Given the description of an element on the screen output the (x, y) to click on. 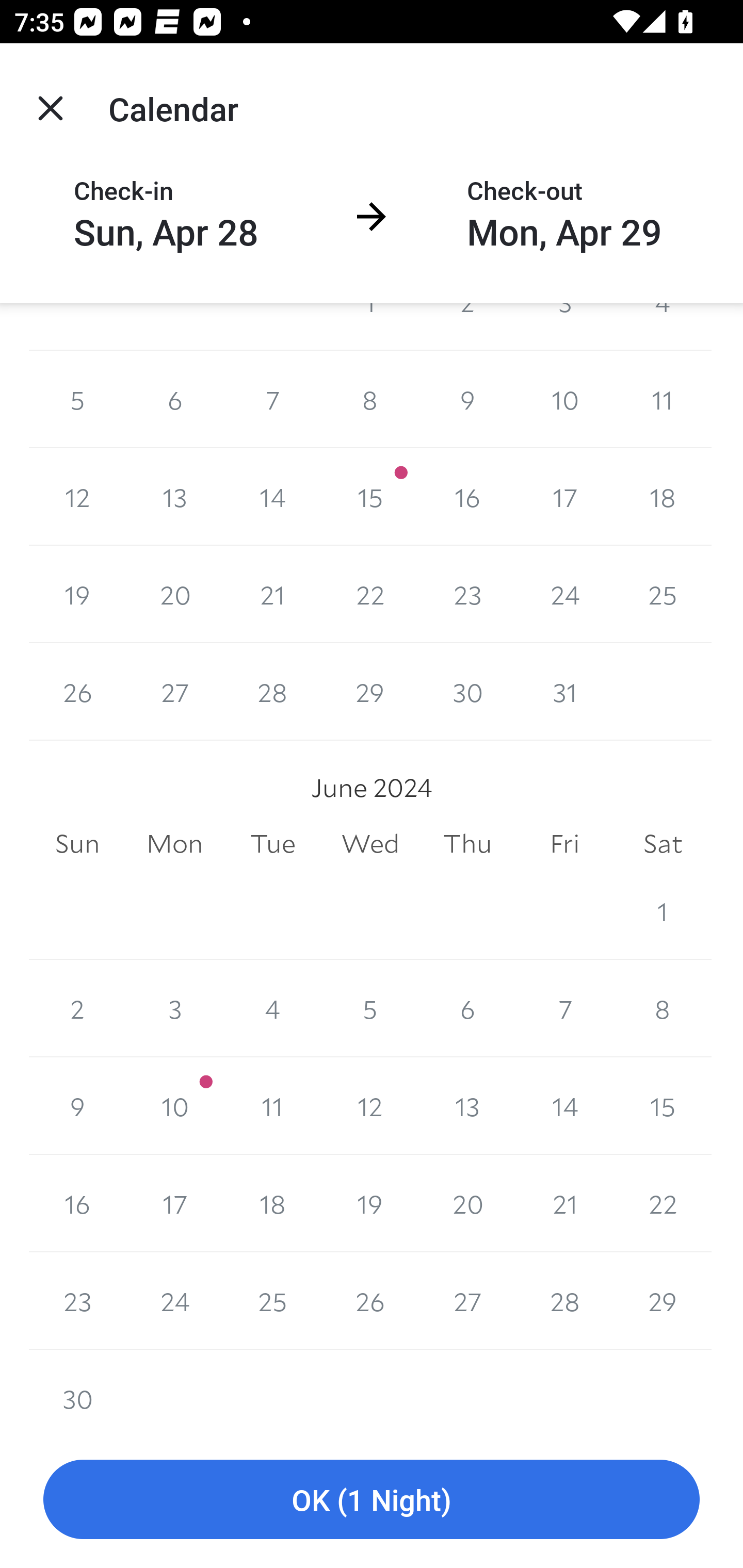
5 5 May 2024 (77, 399)
6 6 May 2024 (174, 399)
7 7 May 2024 (272, 399)
8 8 May 2024 (370, 399)
9 9 May 2024 (467, 399)
10 10 May 2024 (564, 399)
11 11 May 2024 (662, 399)
12 12 May 2024 (77, 496)
13 13 May 2024 (174, 496)
14 14 May 2024 (272, 496)
15 15 May 2024 (370, 496)
16 16 May 2024 (467, 496)
17 17 May 2024 (564, 496)
18 18 May 2024 (662, 496)
19 19 May 2024 (77, 593)
20 20 May 2024 (174, 593)
21 21 May 2024 (272, 593)
22 22 May 2024 (370, 593)
23 23 May 2024 (467, 593)
24 24 May 2024 (564, 593)
25 25 May 2024 (662, 593)
26 26 May 2024 (77, 691)
27 27 May 2024 (174, 691)
28 28 May 2024 (272, 691)
29 29 May 2024 (370, 691)
30 30 May 2024 (467, 691)
31 31 May 2024 (564, 691)
Sun (77, 843)
Mon (174, 843)
Tue (272, 843)
Wed (370, 843)
Thu (467, 843)
Fri (564, 843)
Sat (662, 843)
1 1 June 2024 (662, 910)
2 2 June 2024 (77, 1007)
3 3 June 2024 (174, 1007)
4 4 June 2024 (272, 1007)
5 5 June 2024 (370, 1007)
6 6 June 2024 (467, 1007)
7 7 June 2024 (564, 1007)
8 8 June 2024 (662, 1007)
9 9 June 2024 (77, 1105)
10 10 June 2024 (174, 1105)
11 11 June 2024 (272, 1105)
12 12 June 2024 (370, 1105)
13 13 June 2024 (467, 1105)
14 14 June 2024 (564, 1105)
15 15 June 2024 (662, 1105)
